Given the description of an element on the screen output the (x, y) to click on. 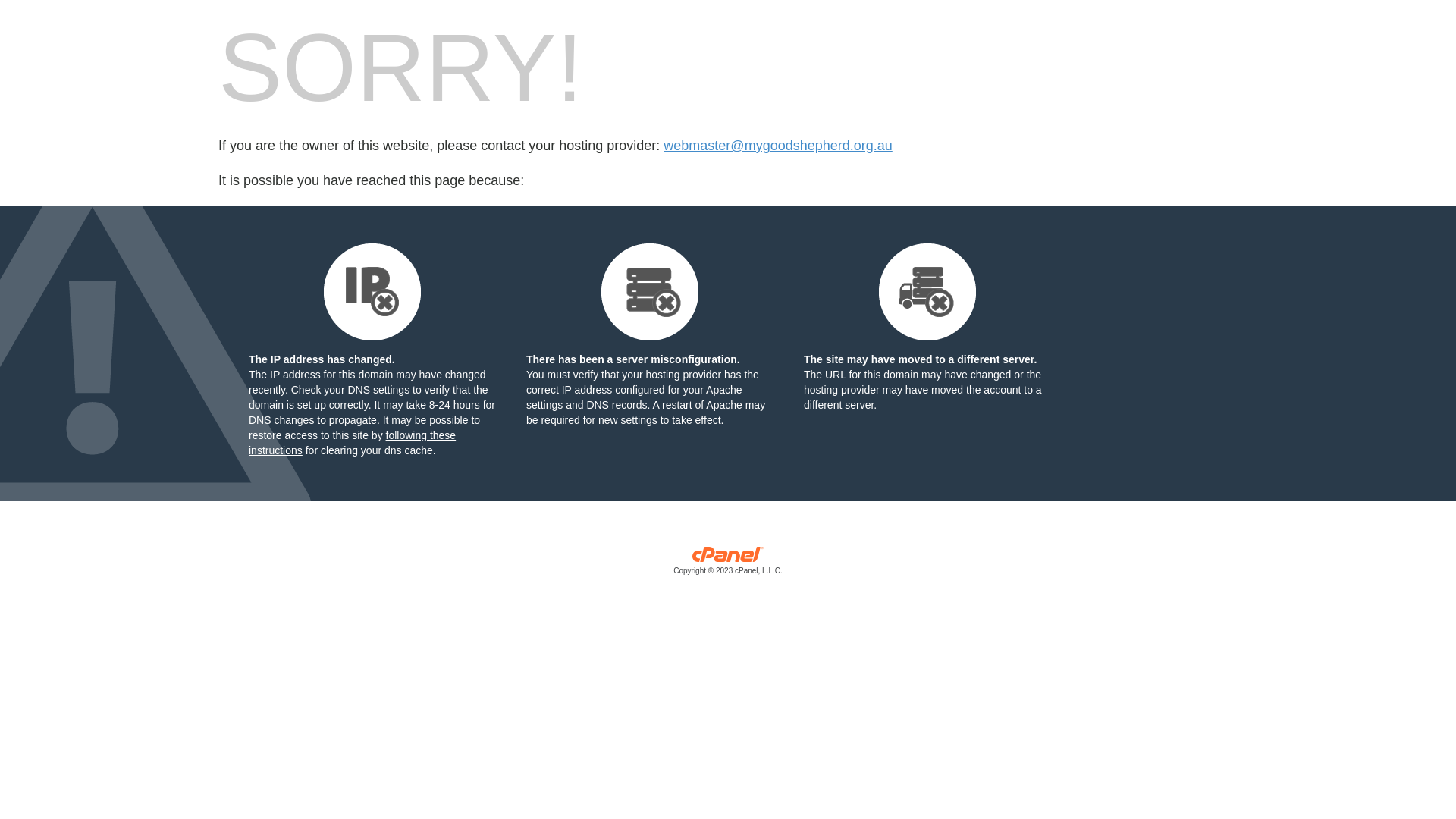
following these instructions Element type: text (351, 442)
webmaster@mygoodshepherd.org.au Element type: text (777, 145)
